Given the description of an element on the screen output the (x, y) to click on. 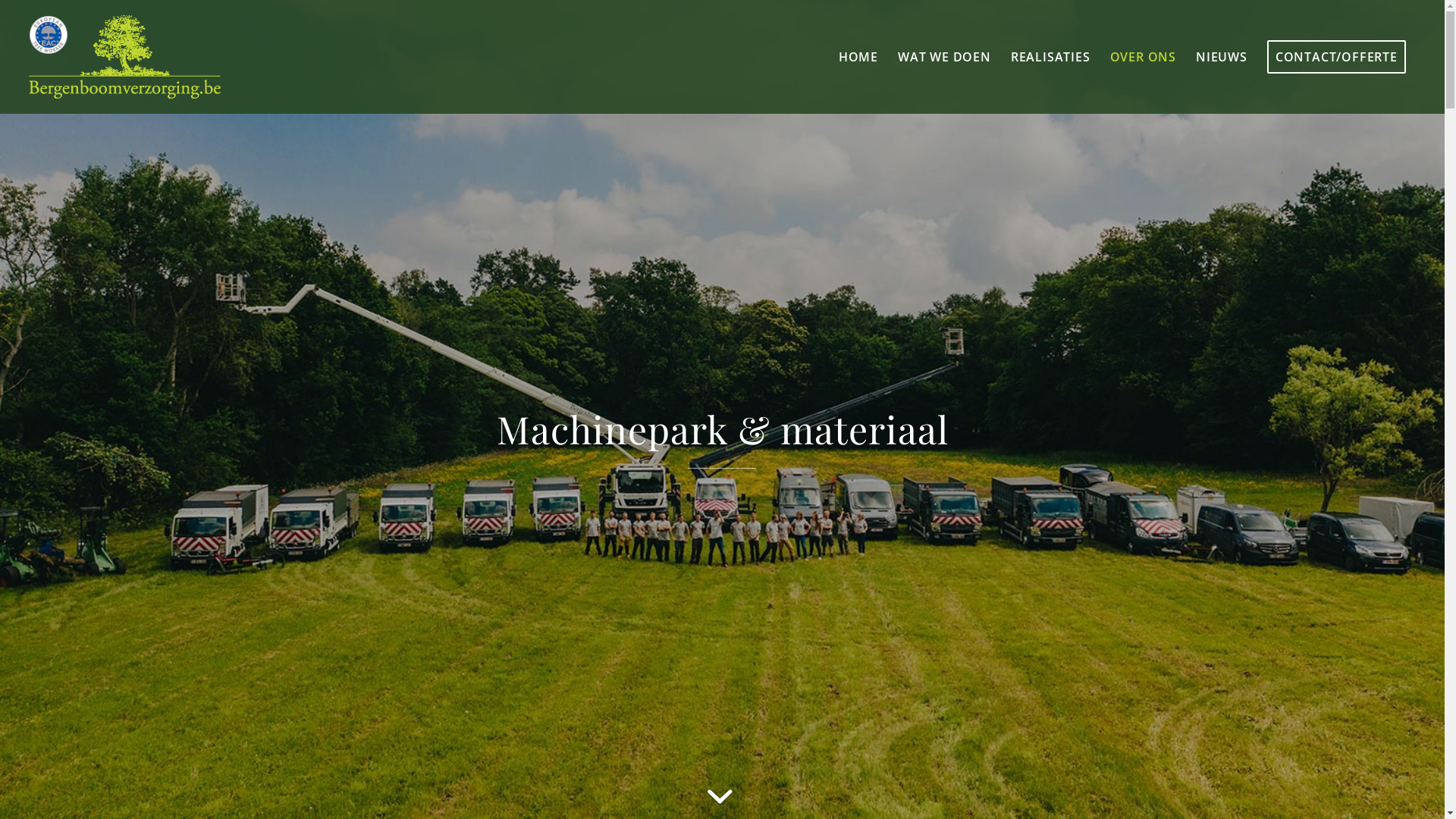
OVER ONS Element type: text (1143, 56)
WAT WE DOEN Element type: text (944, 56)
NIEUWS Element type: text (1221, 56)
bergen_logo_etw Element type: hover (124, 56)
REALISATIES Element type: text (1050, 56)
HOME Element type: text (858, 56)
CONTACT/OFFERTE Element type: text (1336, 56)
